Given the description of an element on the screen output the (x, y) to click on. 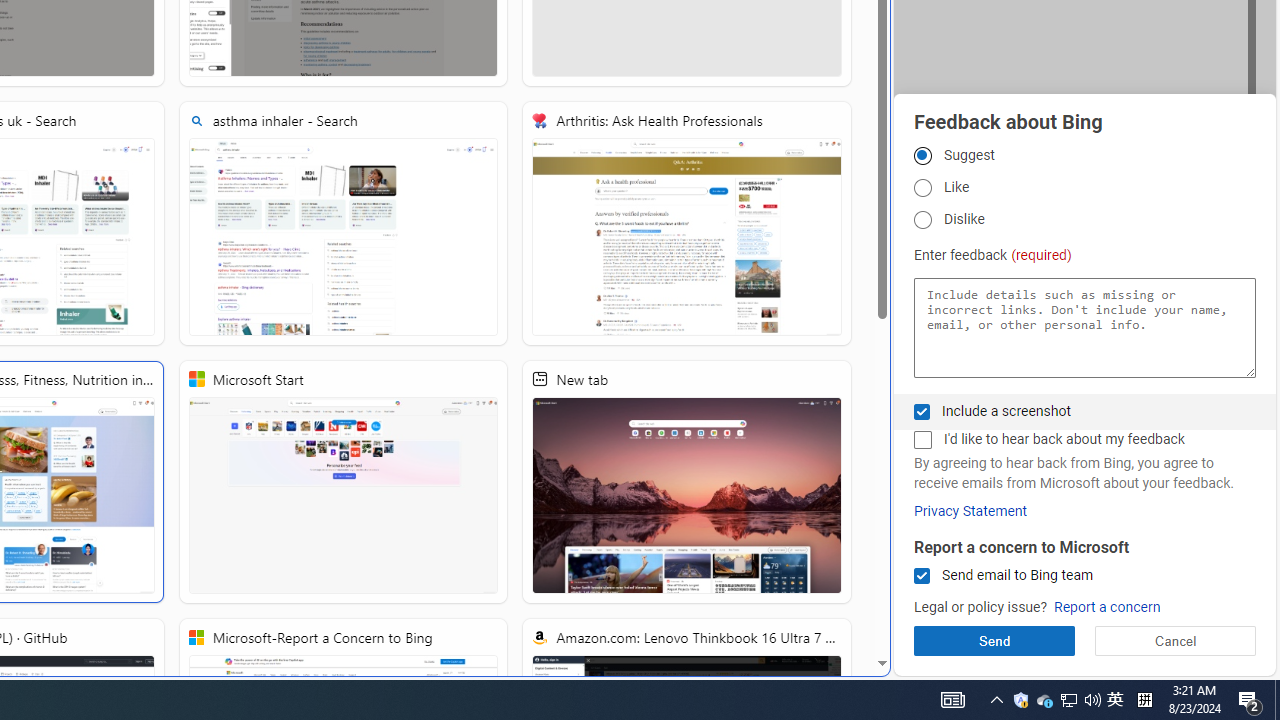
Include a screenshot (921, 411)
I'd like to hear back about my feedback (922, 440)
Send email to Bing team (921, 575)
Arthritis: Ask Health Professionals (687, 223)
Suggest (922, 155)
Send (994, 640)
Privacy Statement (970, 511)
asthma inhaler - Search (343, 223)
Like (922, 188)
Cancel (1174, 640)
Report a concern (1106, 607)
